Given the description of an element on the screen output the (x, y) to click on. 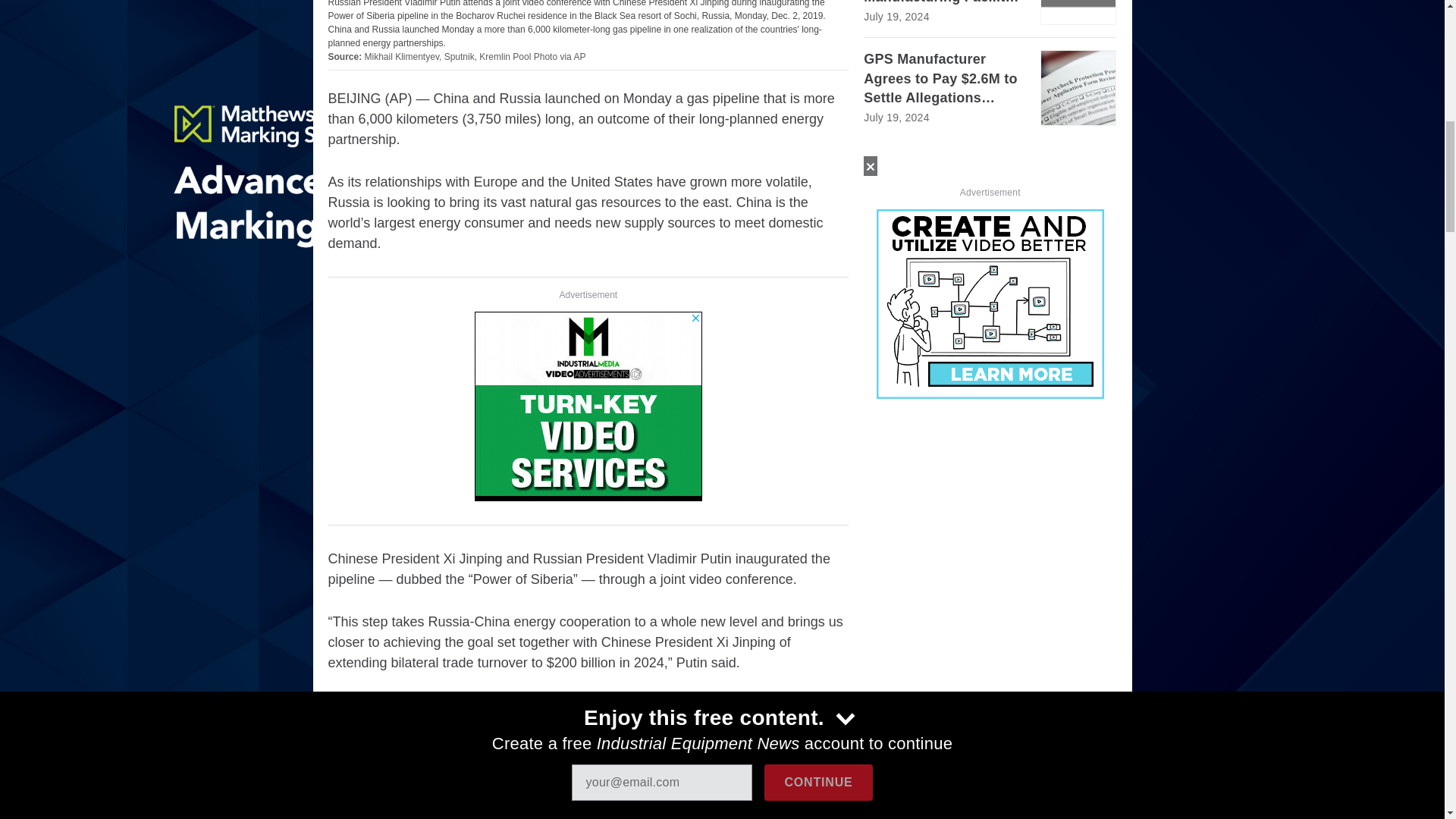
3rd party ad content (587, 406)
